Given the description of an element on the screen output the (x, y) to click on. 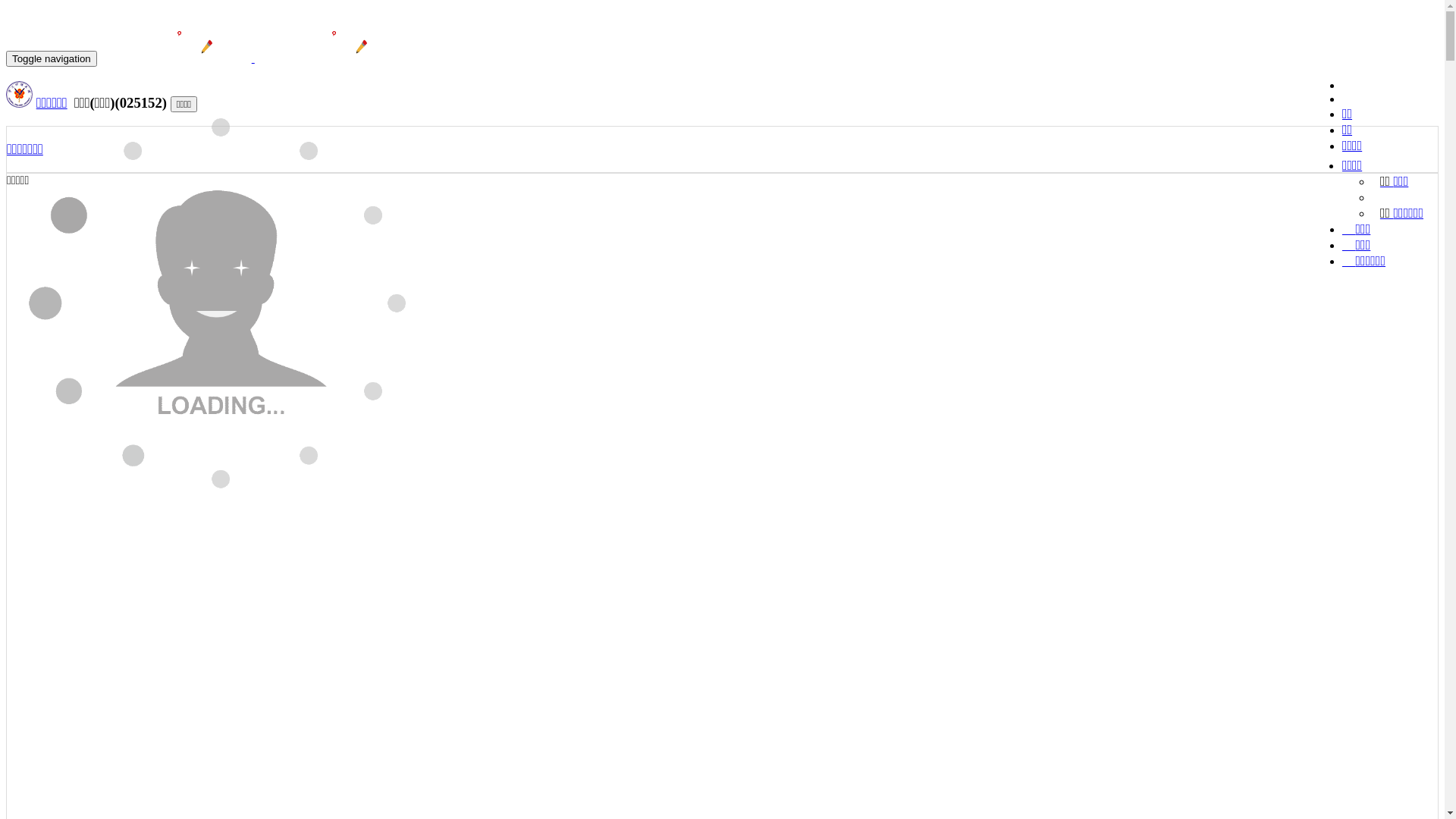
Toggle navigation Element type: text (51, 58)
